Given the description of an element on the screen output the (x, y) to click on. 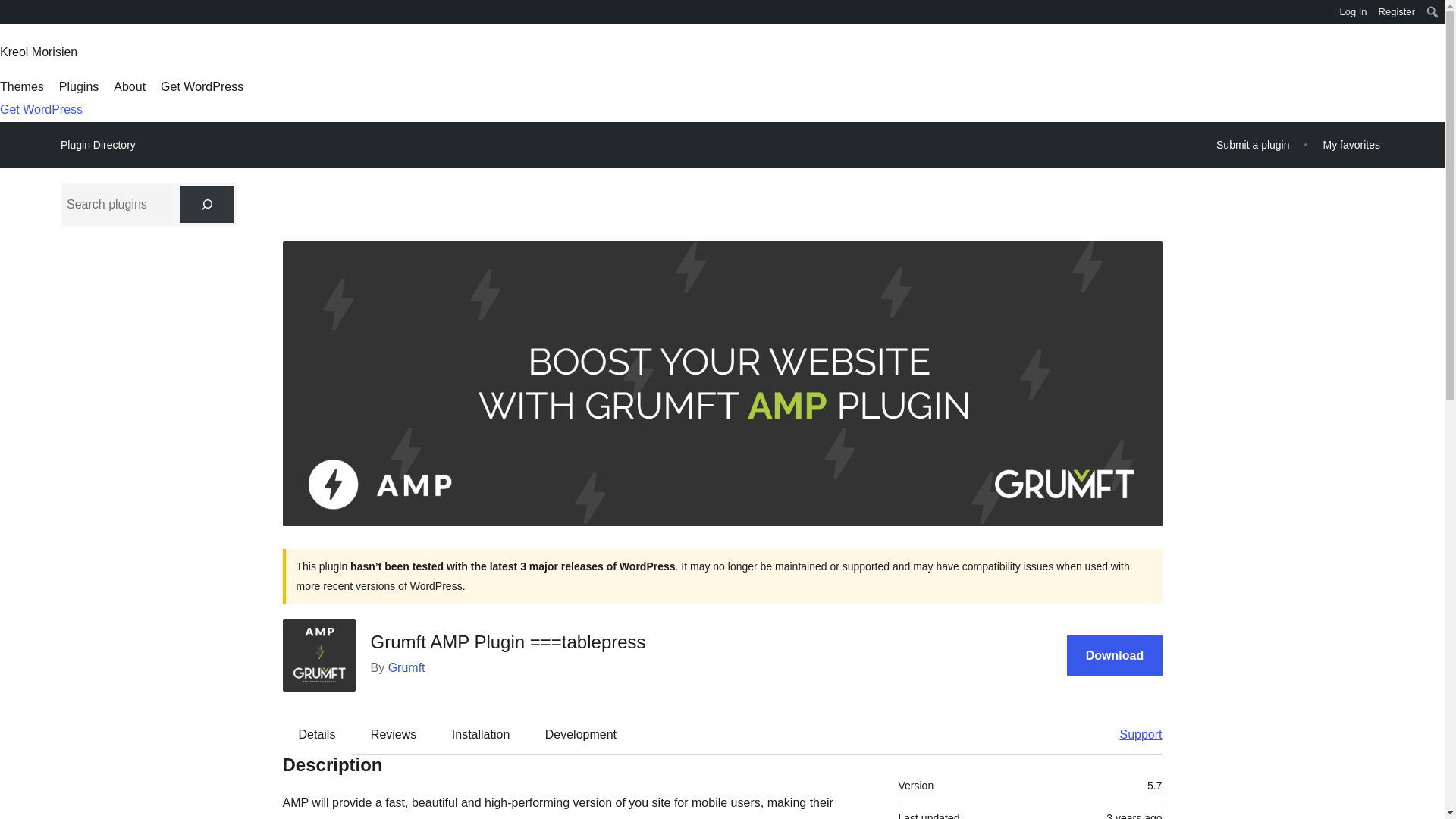
Themes (21, 87)
Get WordPress (201, 87)
Log In (1353, 12)
Search (16, 13)
Installation (480, 733)
Development (580, 733)
About (129, 87)
Reviews (392, 733)
WordPress.org (10, 16)
Support (1132, 733)
Plugins (79, 87)
My favorites (1351, 144)
Submit a plugin (1253, 144)
Download (1114, 655)
Details (316, 733)
